Given the description of an element on the screen output the (x, y) to click on. 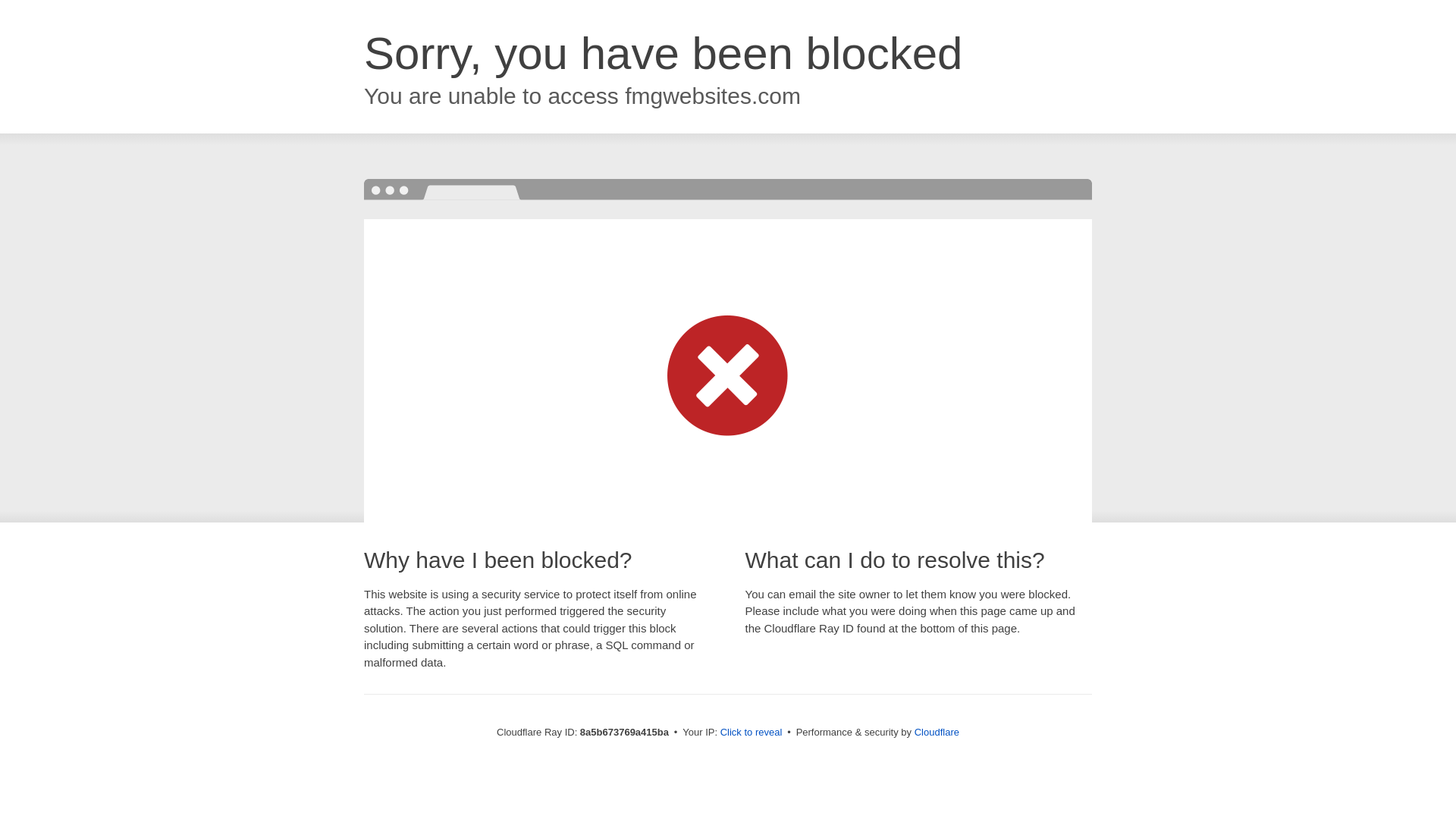
Cloudflare (936, 731)
Click to reveal (751, 732)
